Given the description of an element on the screen output the (x, y) to click on. 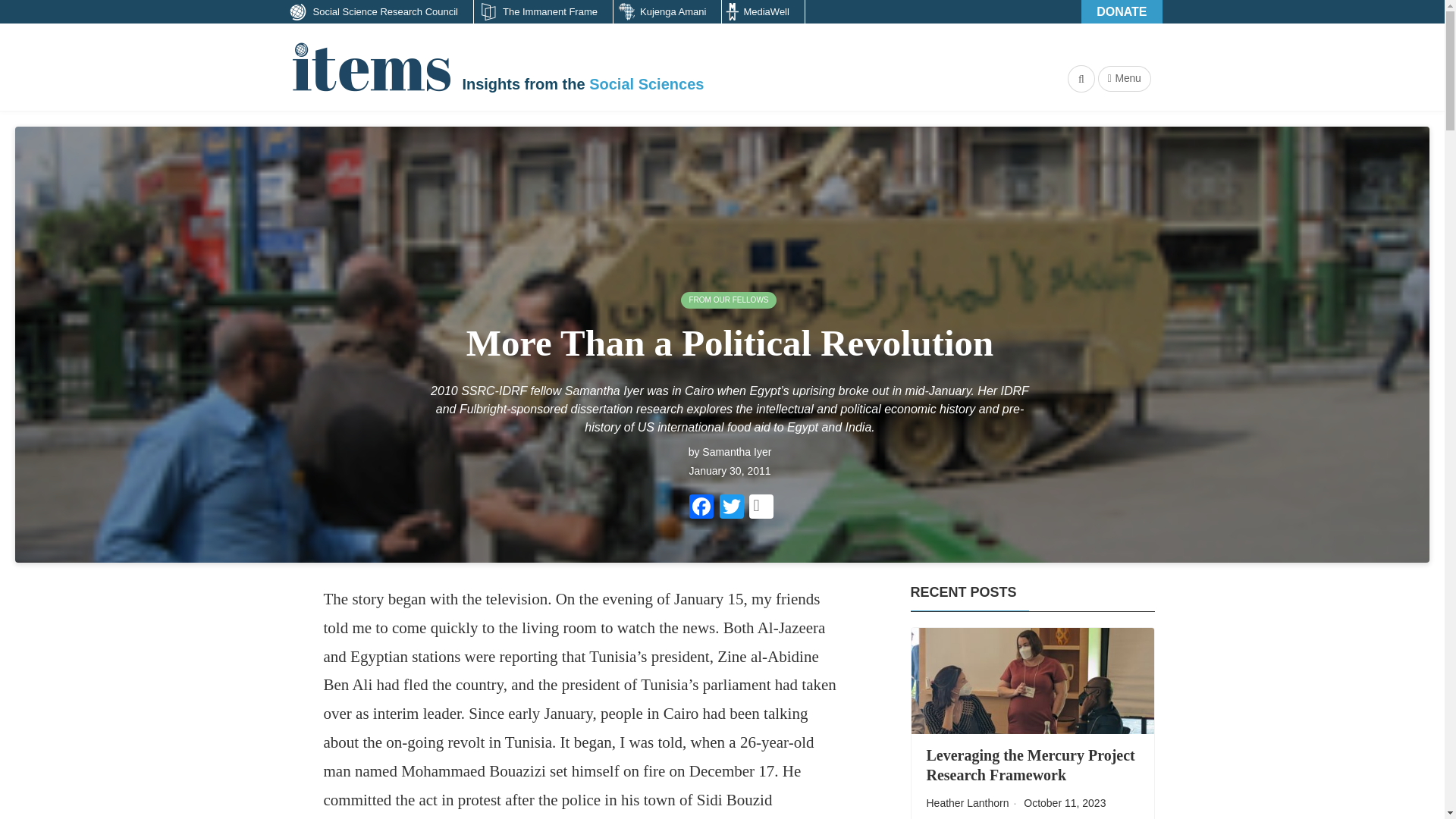
Print (761, 506)
MediaWell (762, 11)
Social Science Research Council (376, 11)
Donate (1121, 11)
Twitter (731, 508)
MediaWell (762, 11)
Twitter (731, 508)
Facebook (700, 508)
Samantha Iyer (736, 451)
January 30, 2011 (729, 470)
Items (370, 66)
View all posts in From Our Fellows (728, 299)
Kujenga Amani (666, 11)
FROM OUR FELLOWS (728, 299)
Social Science Research Council (376, 11)
